Given the description of an element on the screen output the (x, y) to click on. 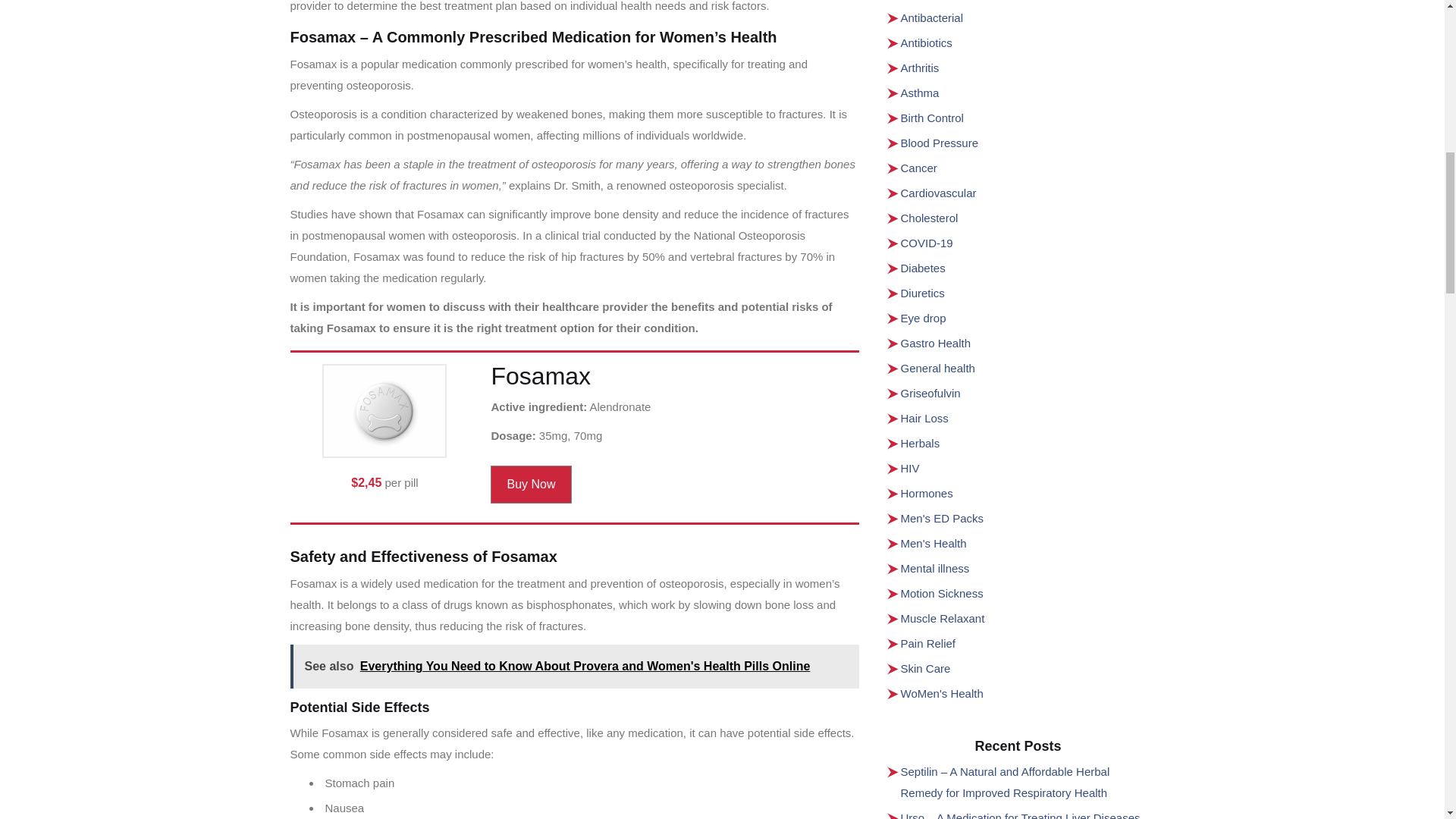
Arthritis (920, 67)
Cholesterol (929, 217)
Antibiotics (926, 42)
Blood Pressure (939, 142)
Cardiovascular (938, 192)
Asthma (920, 92)
Cancer (919, 167)
Birth Control (932, 117)
Buy Now (530, 484)
COVID-19 (927, 242)
Antibacterial (932, 17)
Diabetes (922, 267)
